Given the description of an element on the screen output the (x, y) to click on. 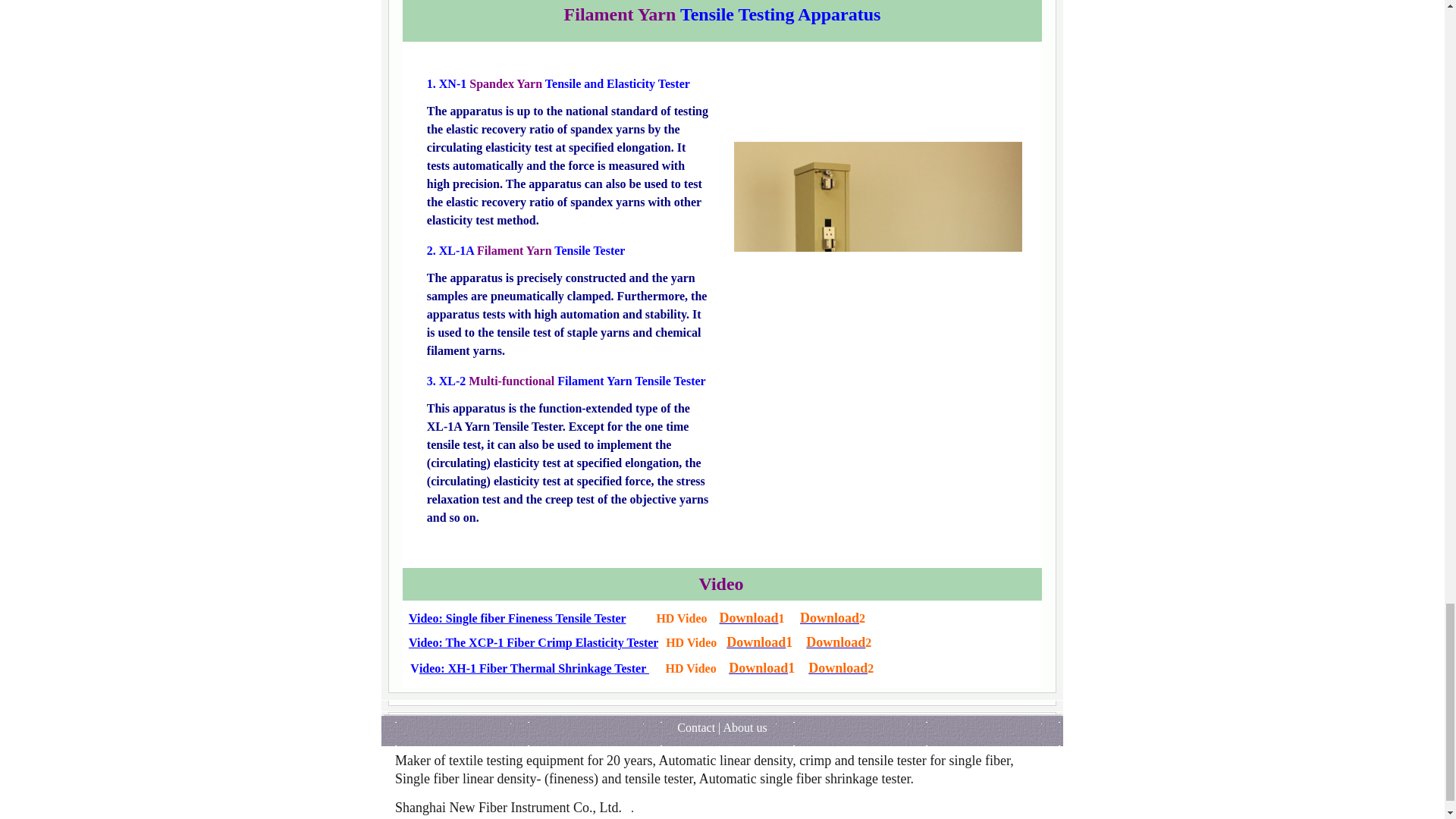
About us (744, 728)
Contact (695, 728)
Download (748, 619)
ideo: XH-1 Fiber Thermal Shrinkage Tester  (534, 669)
HD Video (690, 669)
Download (756, 643)
Download (837, 669)
Download (835, 643)
